Given the description of an element on the screen output the (x, y) to click on. 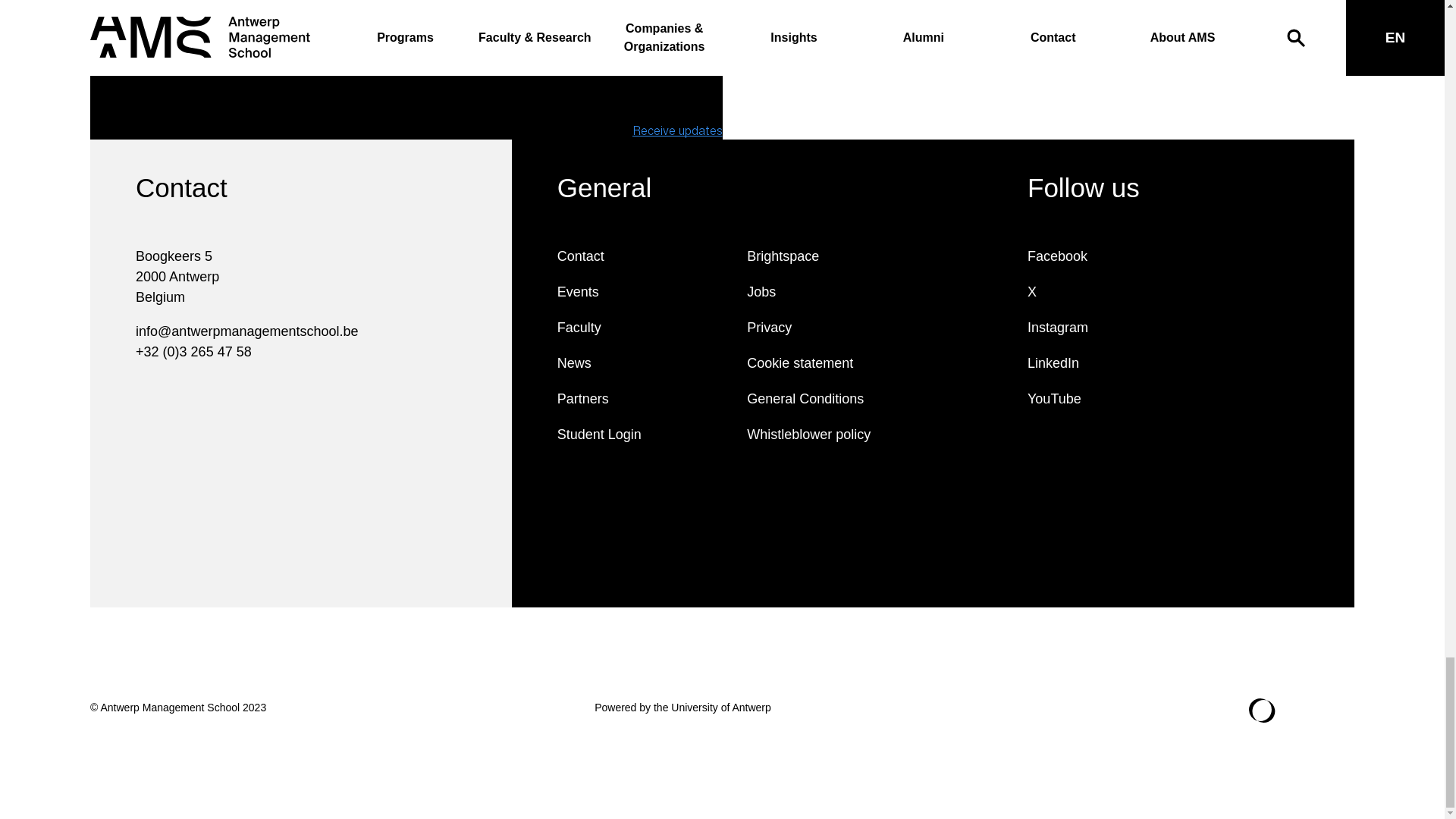
subscribe-image (1038, 69)
logo-lunar (1262, 710)
